Given the description of an element on the screen output the (x, y) to click on. 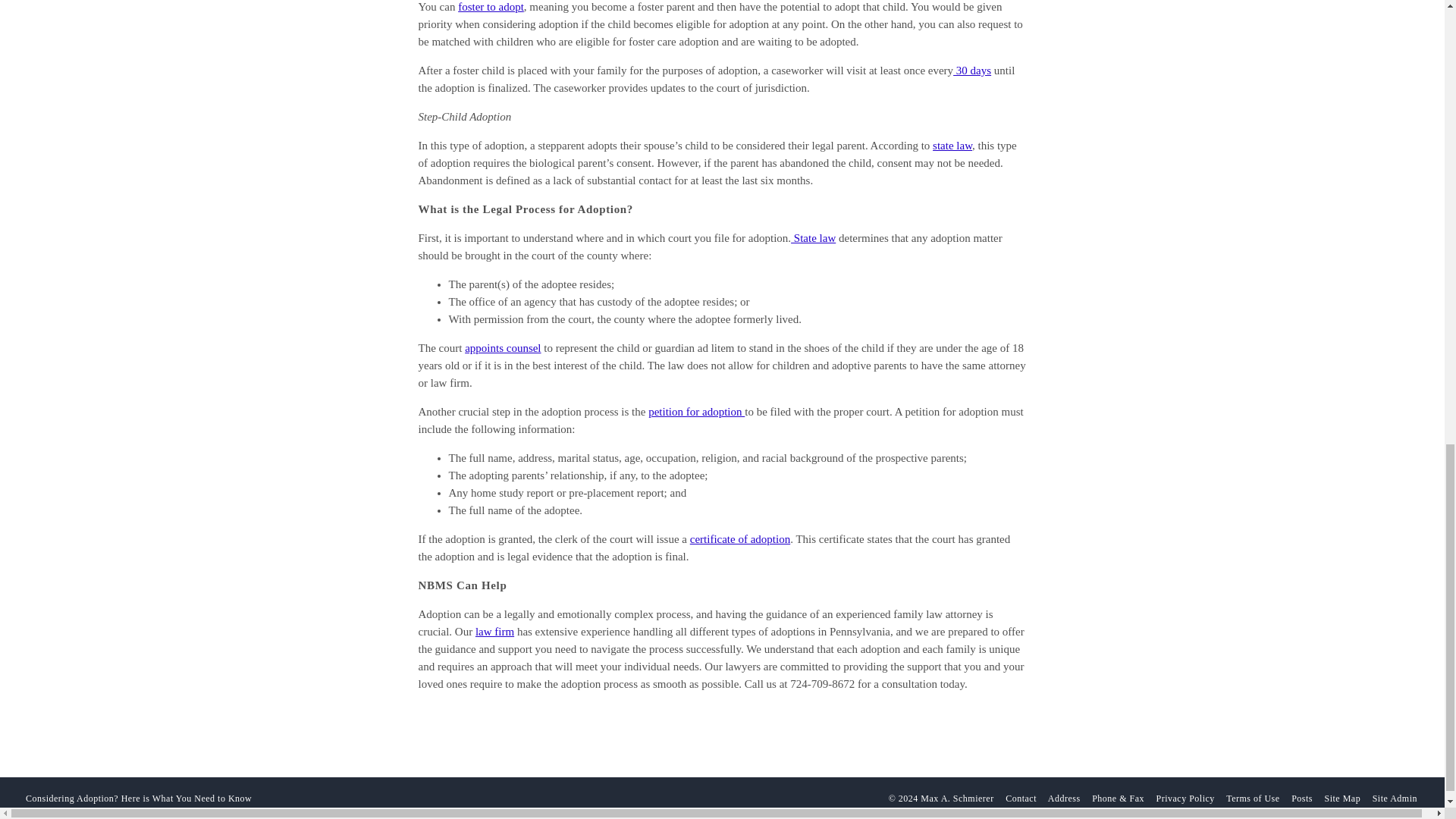
petition for adoption (695, 411)
Site Admin (1394, 798)
Site Map (1341, 798)
Privacy Policy (1185, 798)
State law (812, 237)
foster to adopt (491, 6)
Terms of Use (1252, 798)
state law (952, 145)
30 days (972, 70)
Contact (1021, 798)
Posts (1302, 798)
law firm (494, 631)
appoints counsel (502, 347)
certificate of adoption (740, 539)
Address (1064, 798)
